Given the description of an element on the screen output the (x, y) to click on. 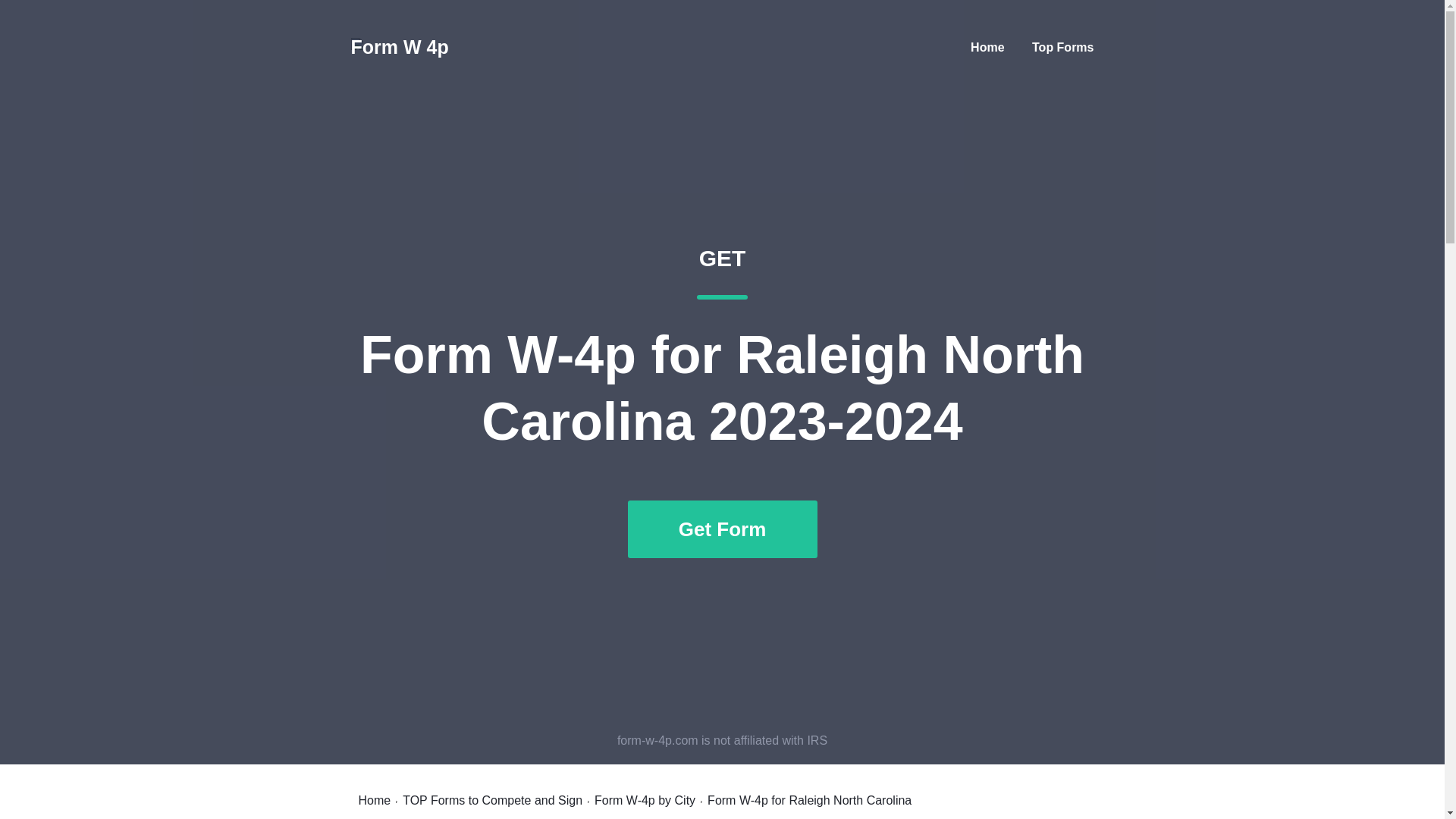
TOP Forms to Compete and Sign (492, 800)
Form W 4p (399, 46)
Top Forms (1062, 47)
Home (987, 47)
Form W-4p by City (644, 800)
Home (374, 800)
